Given the description of an element on the screen output the (x, y) to click on. 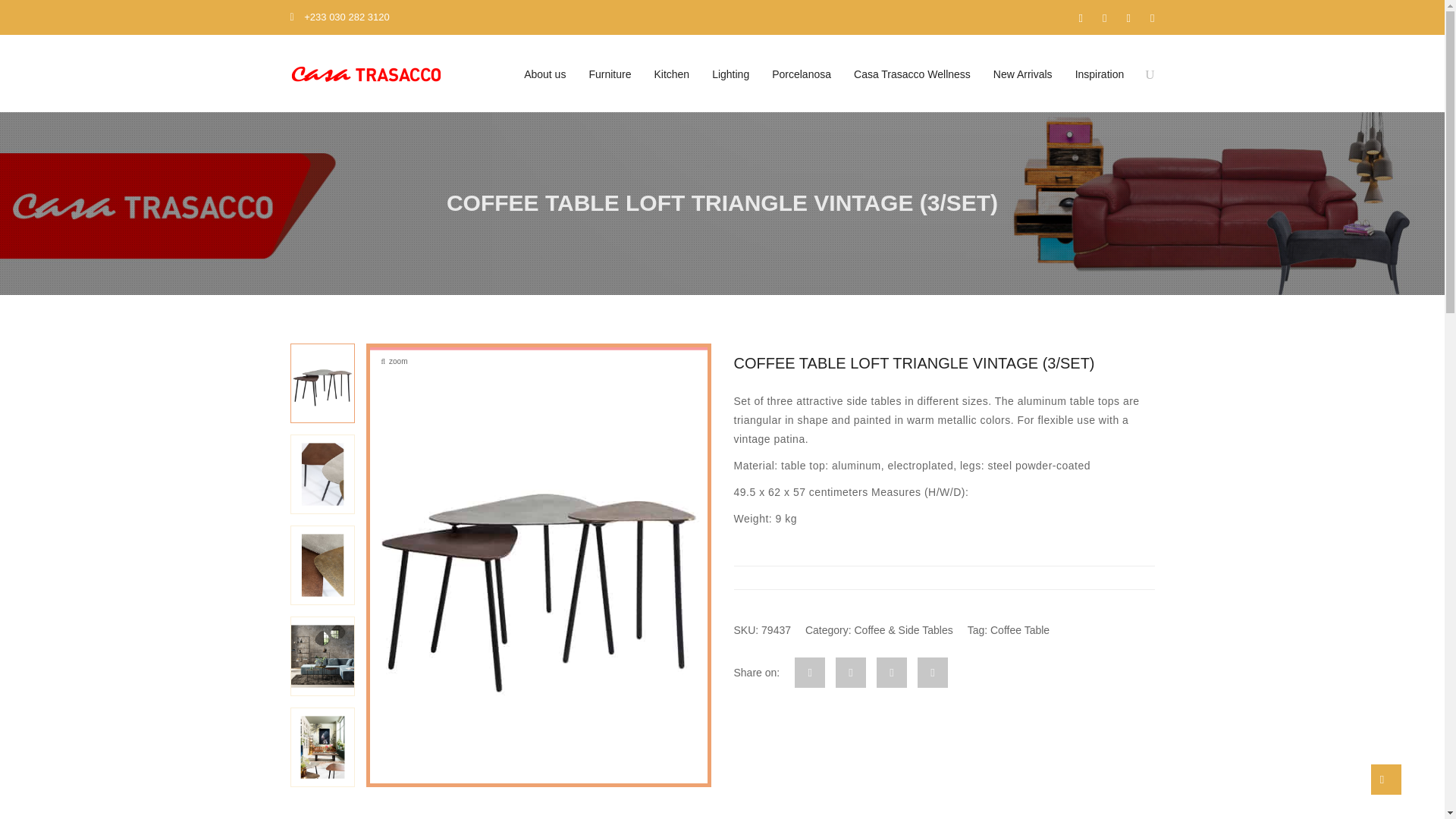
About us (544, 73)
Lighting (730, 73)
Search (1140, 147)
Porcelanosa (801, 73)
Kitchen (671, 73)
Furniture (609, 73)
